Given the description of an element on the screen output the (x, y) to click on. 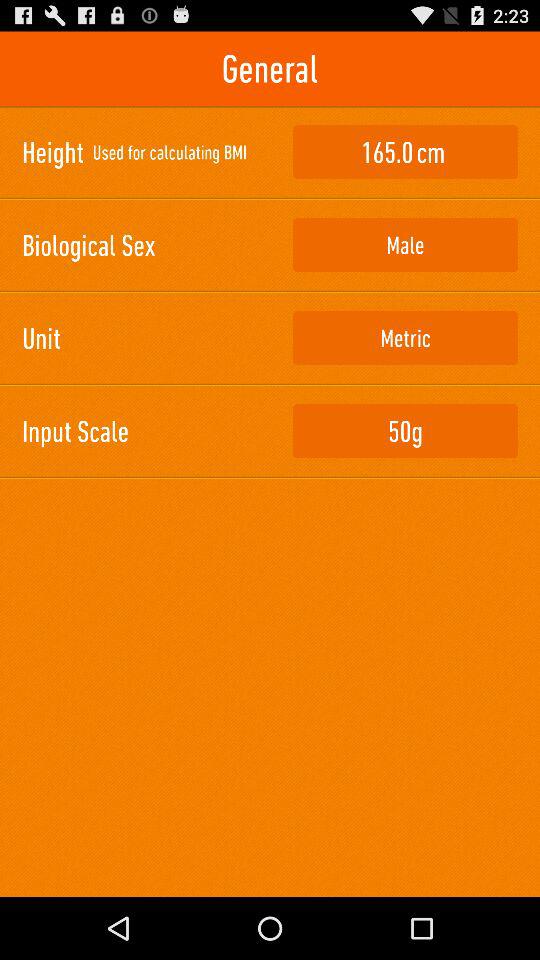
input height (405, 152)
